Given the description of an element on the screen output the (x, y) to click on. 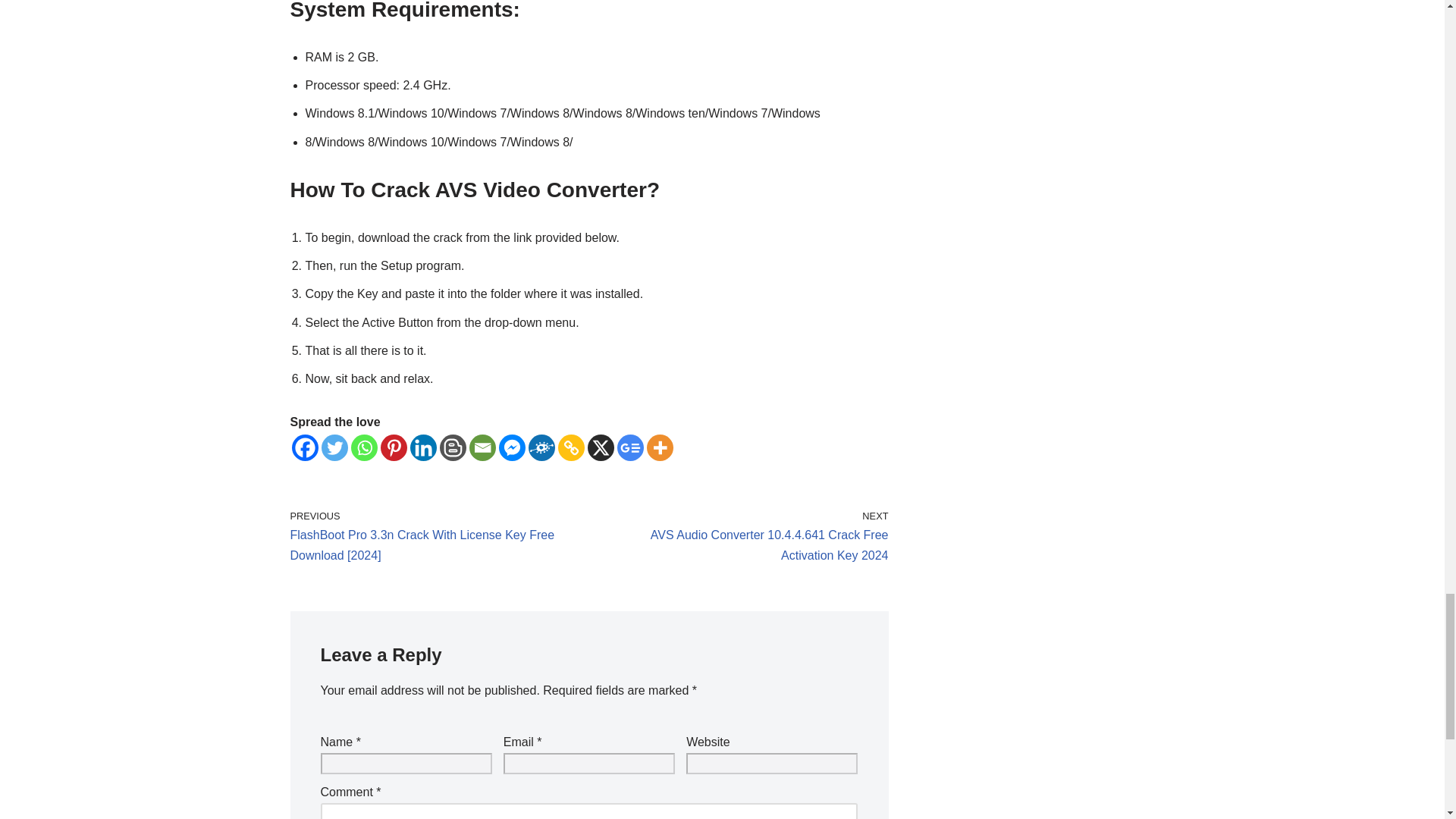
Linkedin (422, 447)
Twitter (334, 447)
Facebook (304, 447)
Pinterest (393, 447)
Email (481, 447)
X (599, 447)
Blogger Post (452, 447)
Folkd (540, 447)
Copy Link (571, 447)
Whatsapp (363, 447)
